Given the description of an element on the screen output the (x, y) to click on. 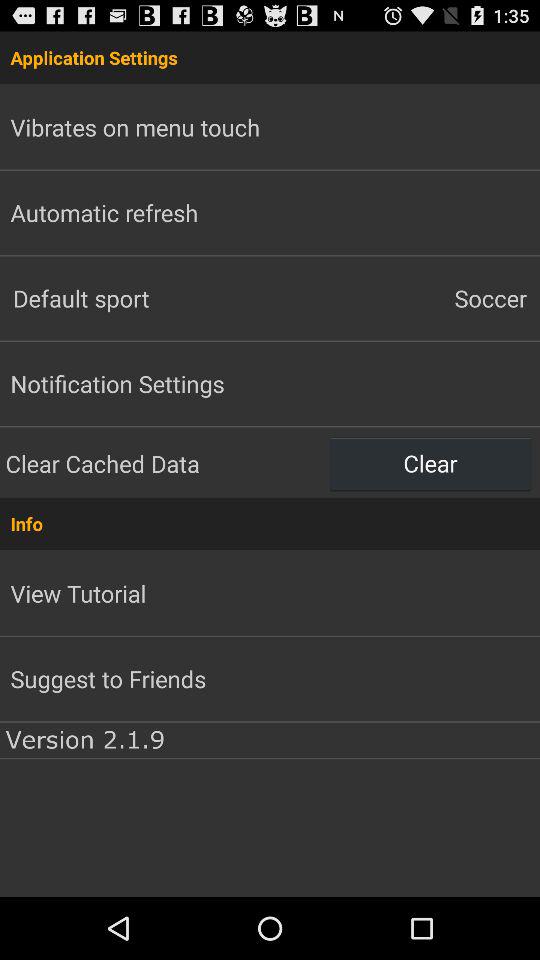
click item next to clear item (165, 463)
